Given the description of an element on the screen output the (x, y) to click on. 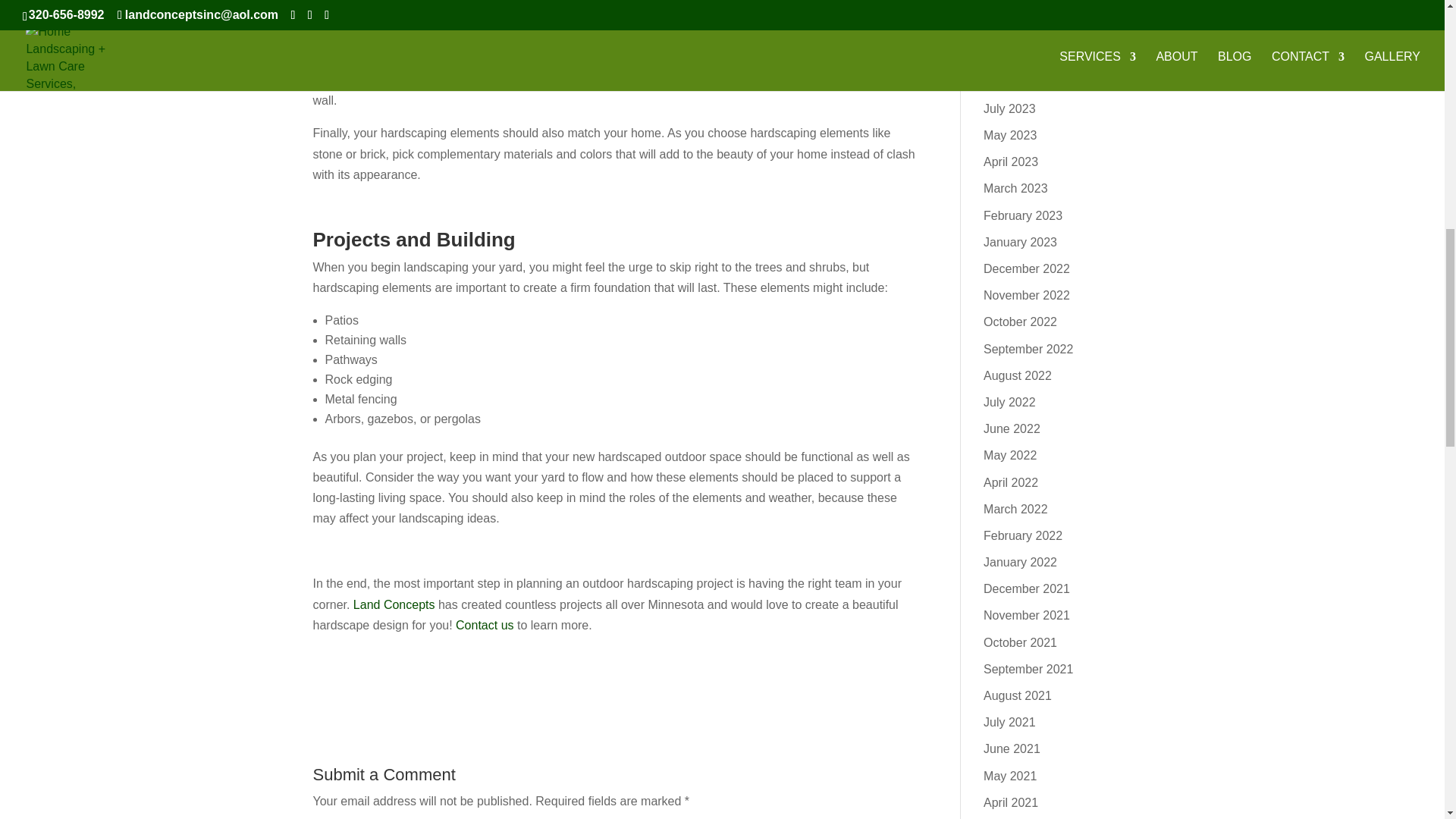
October 2023 (1020, 28)
November 2023 (1027, 4)
Contact us (484, 625)
Land Concepts (394, 604)
